Given the description of an element on the screen output the (x, y) to click on. 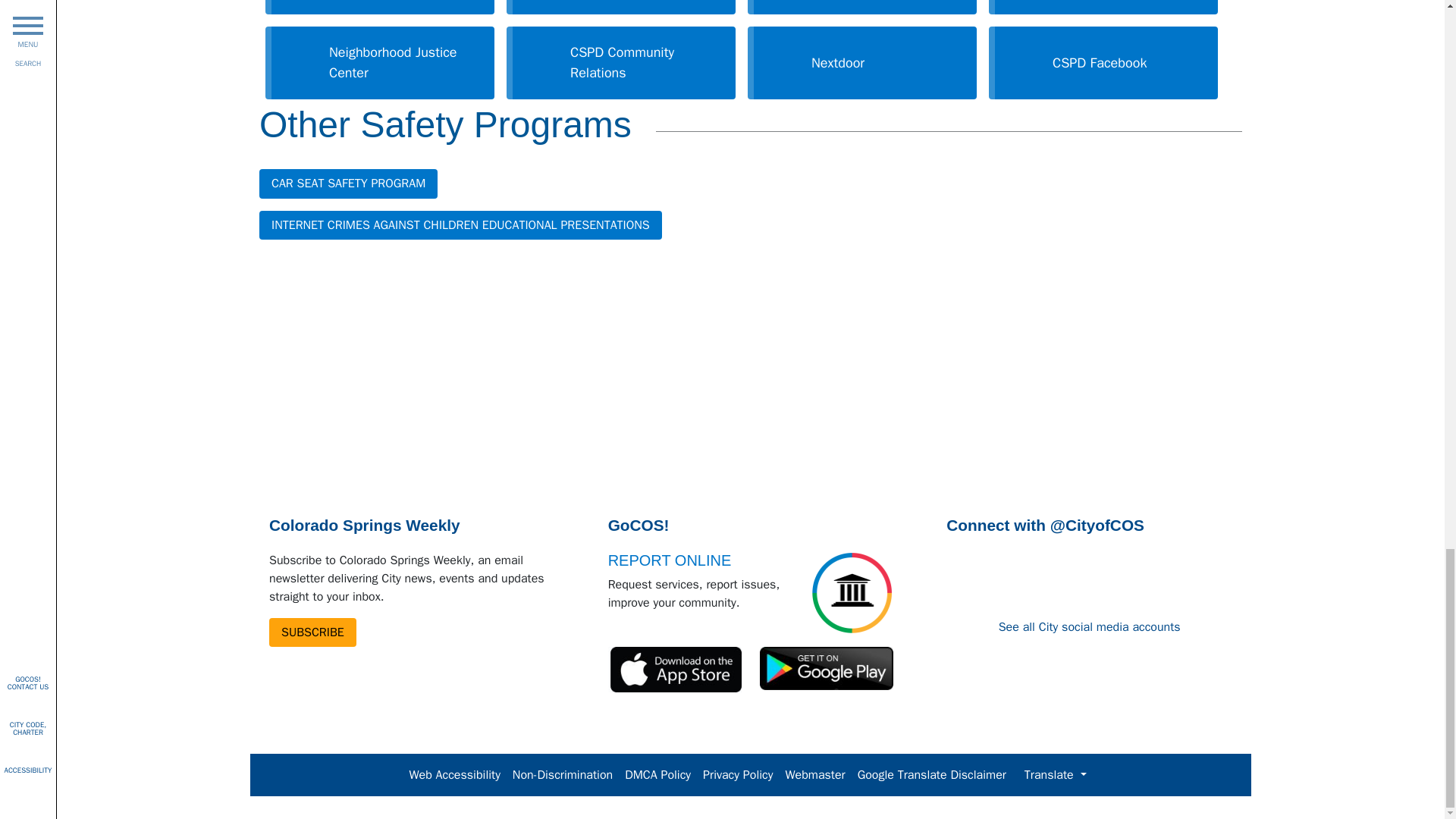
CAR SEAT SAFETY PROGRAM (348, 183)
SUBSCRIBE (312, 632)
GoCOS! (861, 10)
Together COS (620, 10)
Nextdoor (861, 62)
CSPD Community Relations (620, 62)
COS Ready (1103, 10)
INTERNET CRIMES AGAINST CHILDREN EDUCATIONAL PRESENTATIONS (460, 224)
Neighborhood Justice Center (379, 62)
CSPD Facebook (1103, 62)
Crime Data in Your Neighborhood (379, 10)
